Given the description of an element on the screen output the (x, y) to click on. 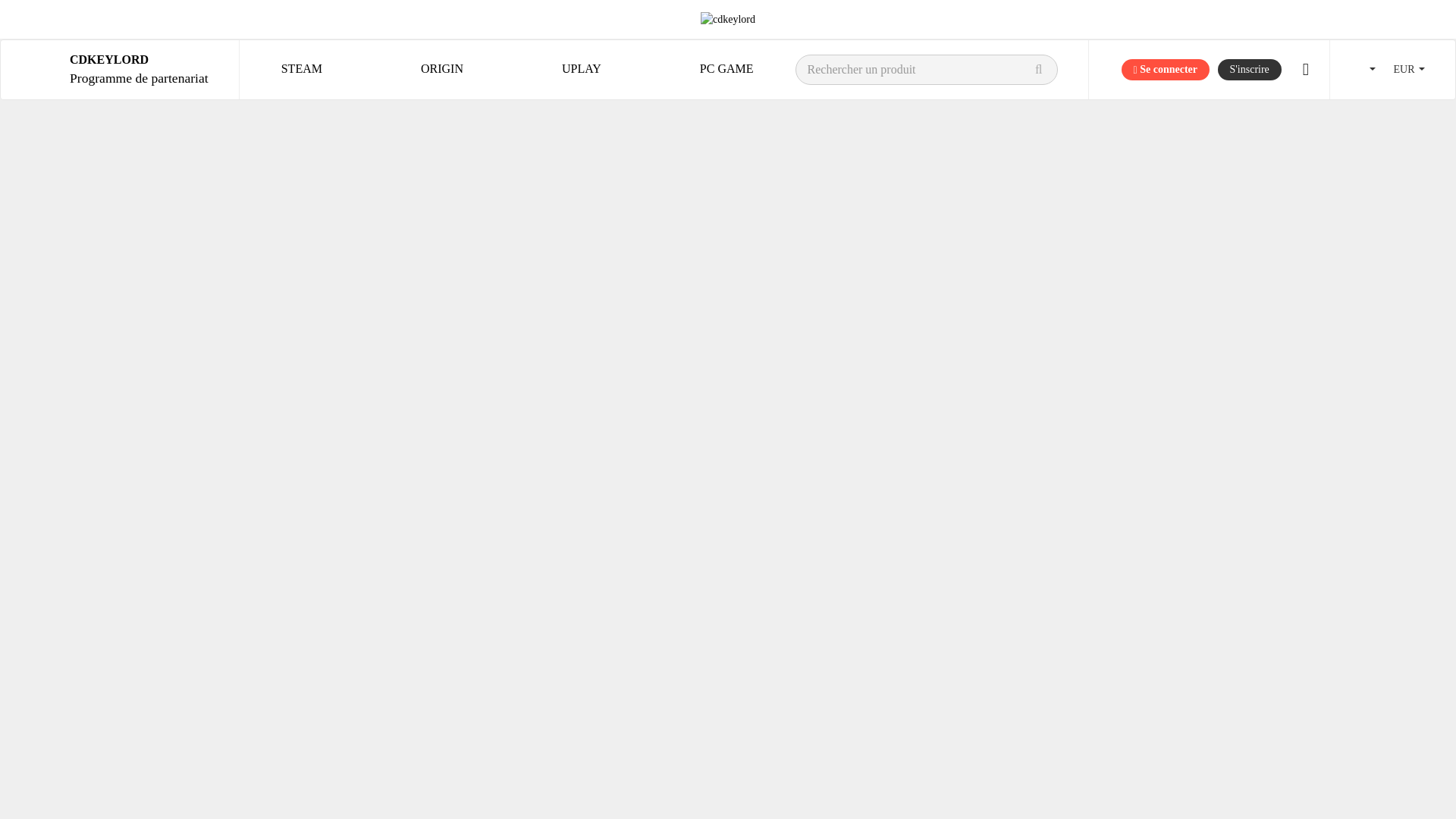
STEAM (138, 69)
ORIGIN (301, 69)
PC GAME (441, 69)
S'inscrire (726, 69)
Se connecter (1249, 69)
cdkeylord (1165, 69)
UPLAY (727, 19)
